Given the description of an element on the screen output the (x, y) to click on. 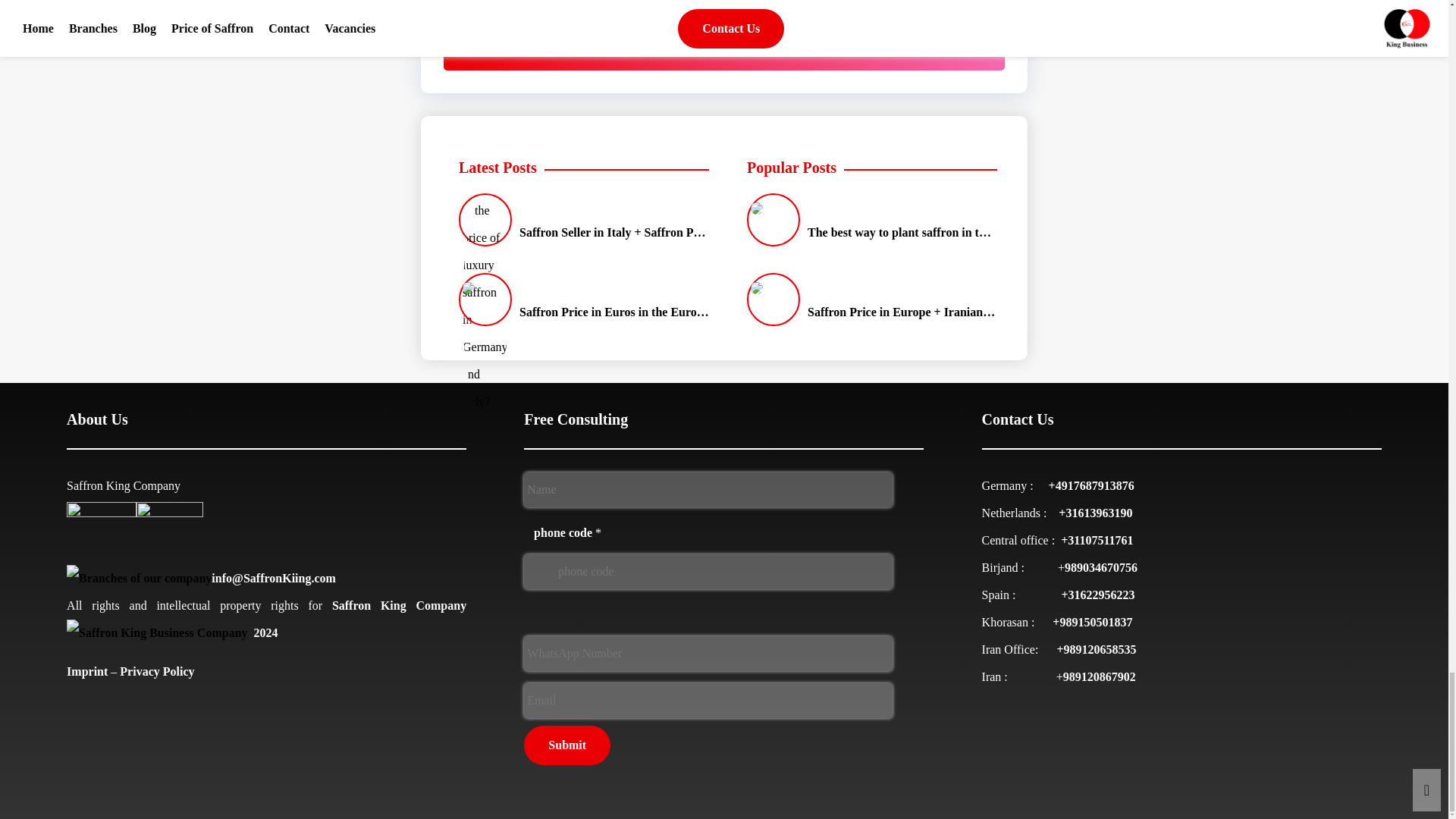
The best way to plant saffron in the Netherlands (868, 219)
Saffron Price in Euros in the European Market (580, 299)
Submit (567, 744)
